Given the description of an element on the screen output the (x, y) to click on. 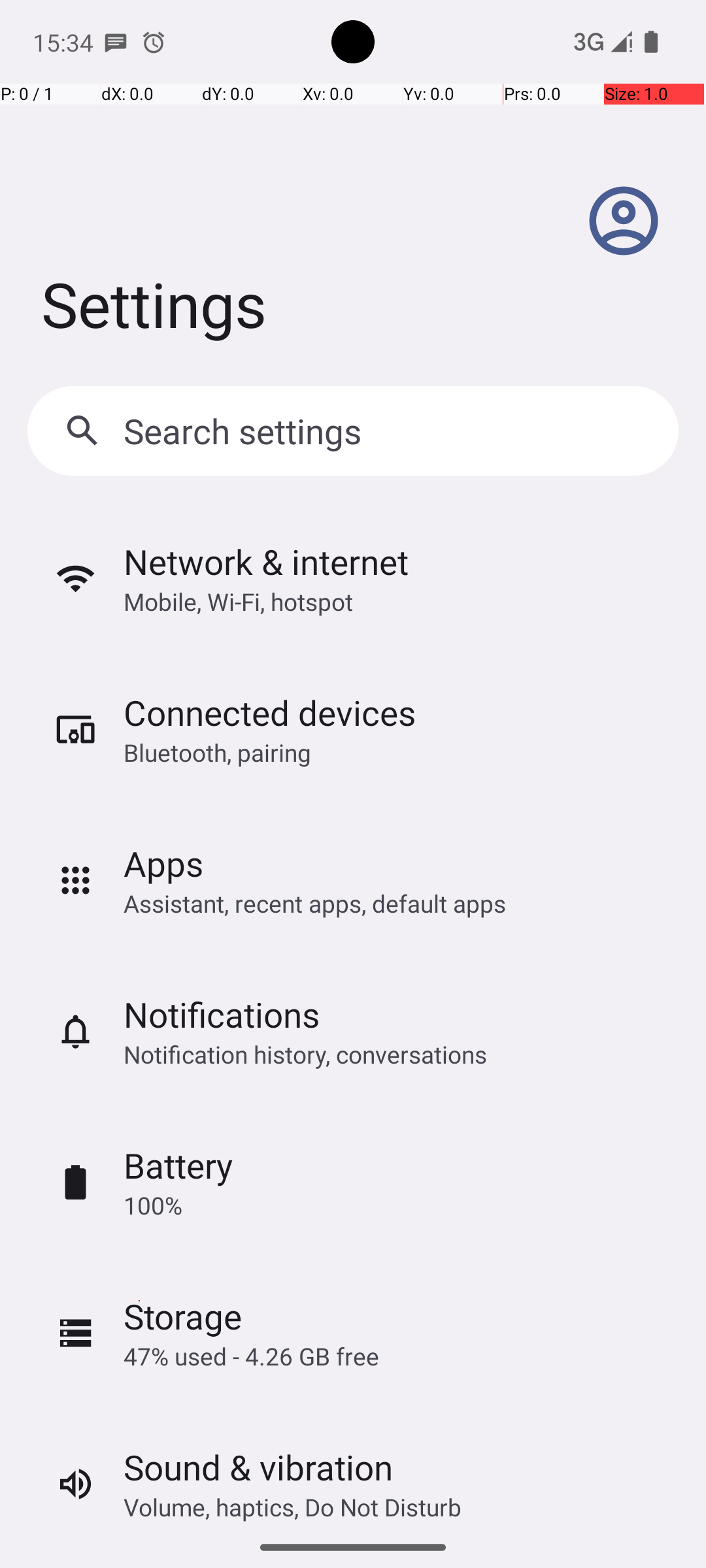
47% used - 4.26 GB free Element type: android.widget.TextView (251, 1355)
